Given the description of an element on the screen output the (x, y) to click on. 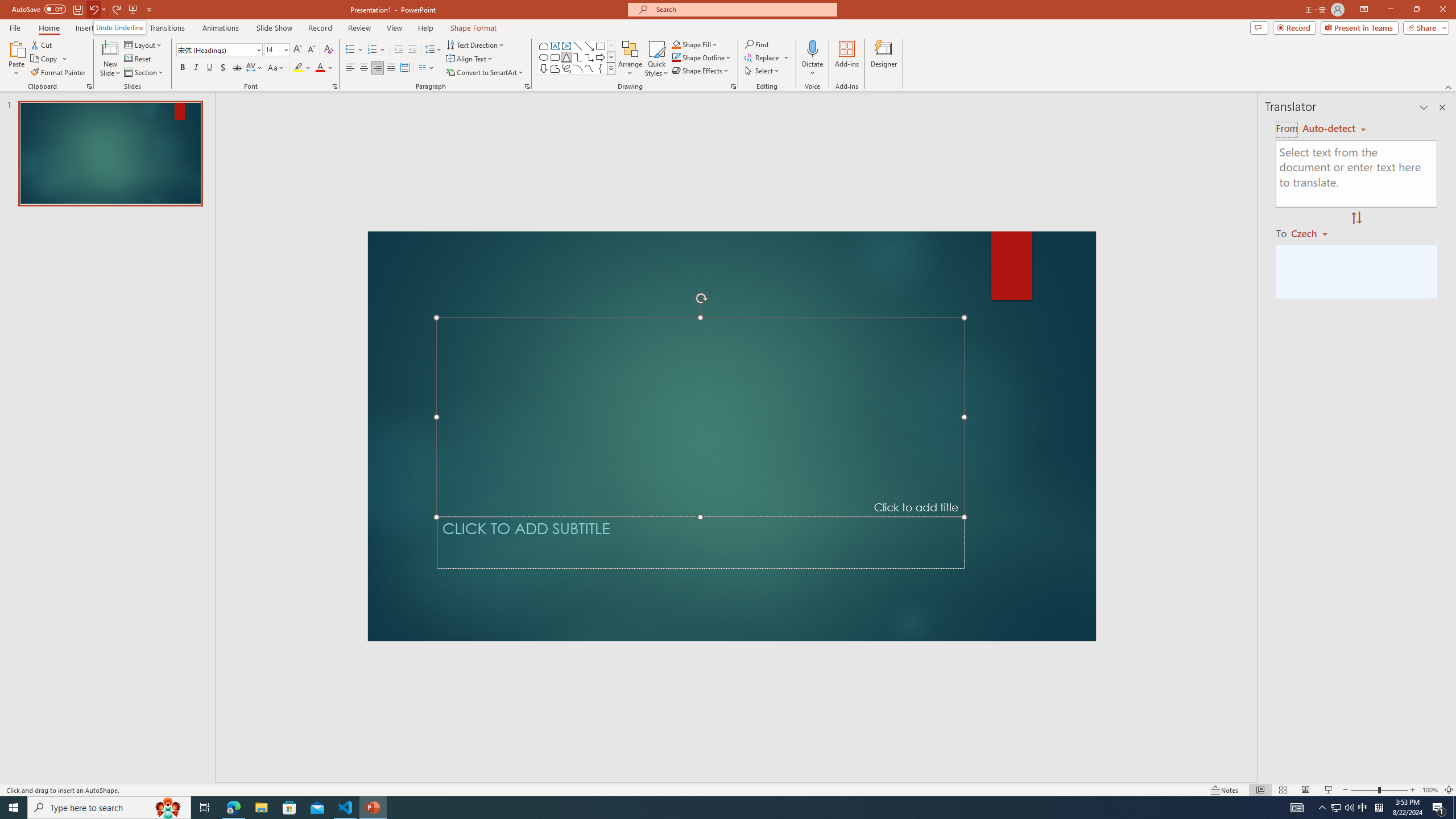
Rectangle: Top Corners Snipped (543, 45)
